Given the description of an element on the screen output the (x, y) to click on. 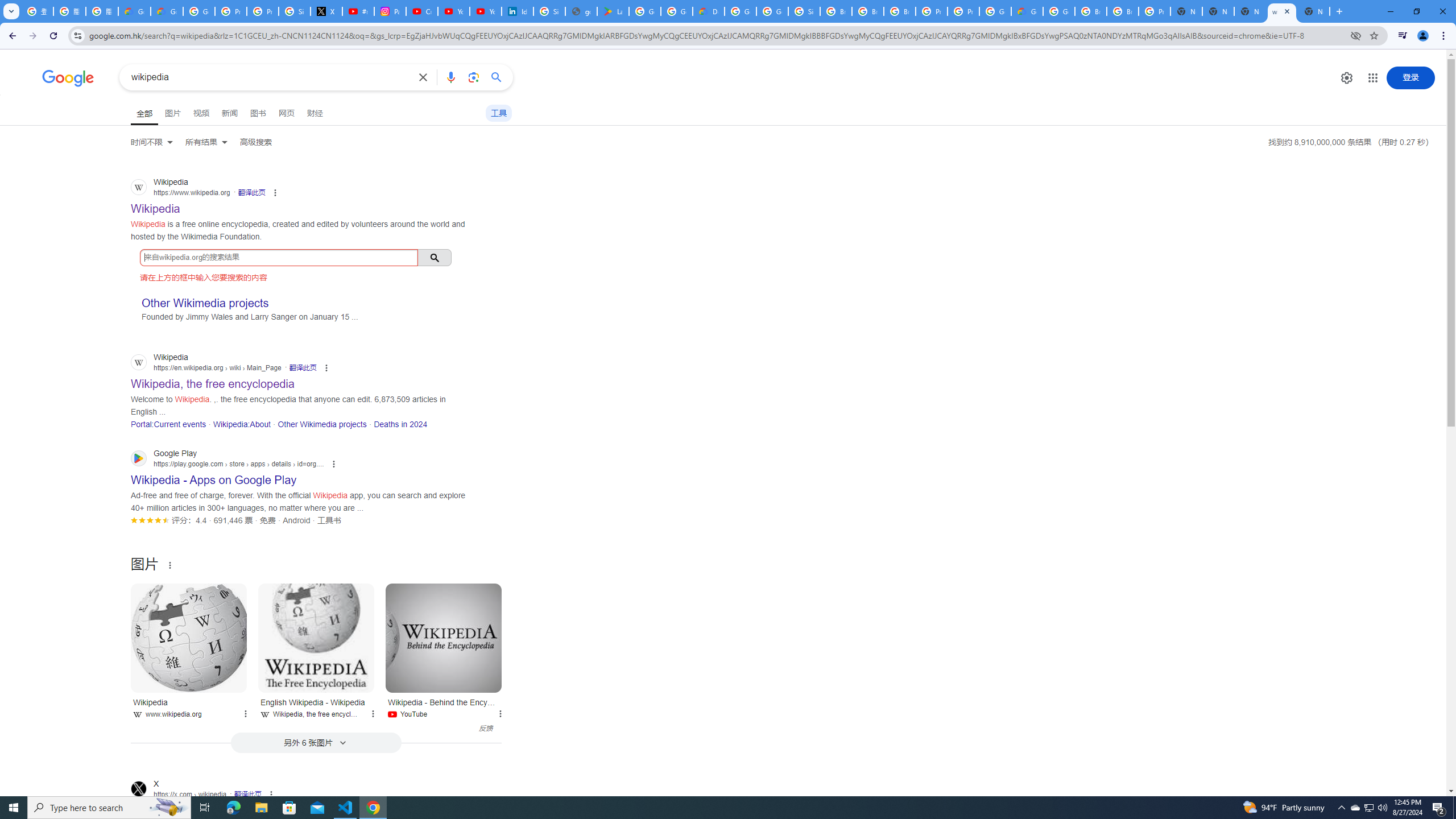
X (326, 11)
Google Cloud Privacy Notice (166, 11)
#nbabasketballhighlights - YouTube (358, 11)
